Given the description of an element on the screen output the (x, y) to click on. 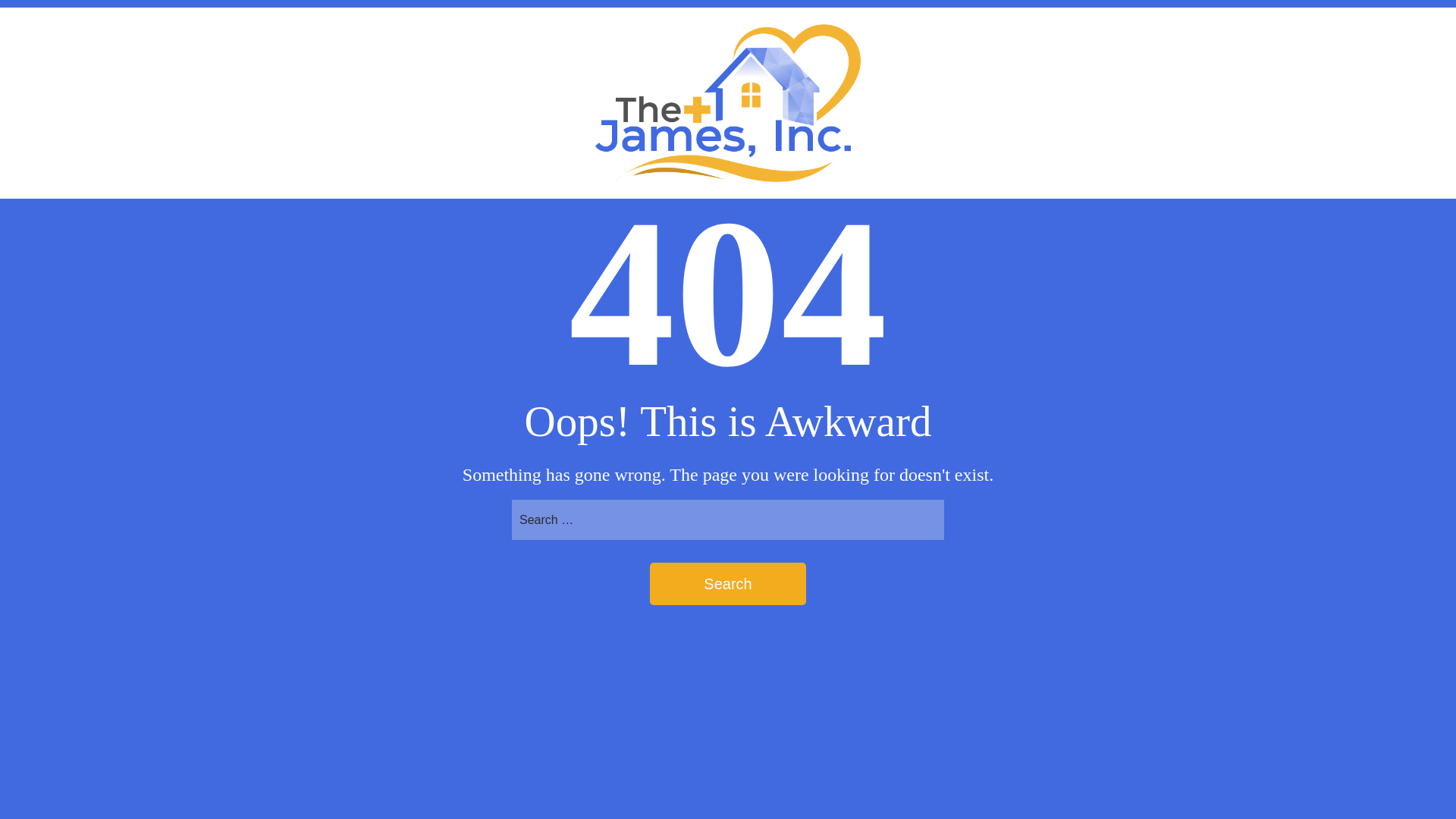
Search (727, 583)
Search (727, 583)
Search (727, 583)
